Given the description of an element on the screen output the (x, y) to click on. 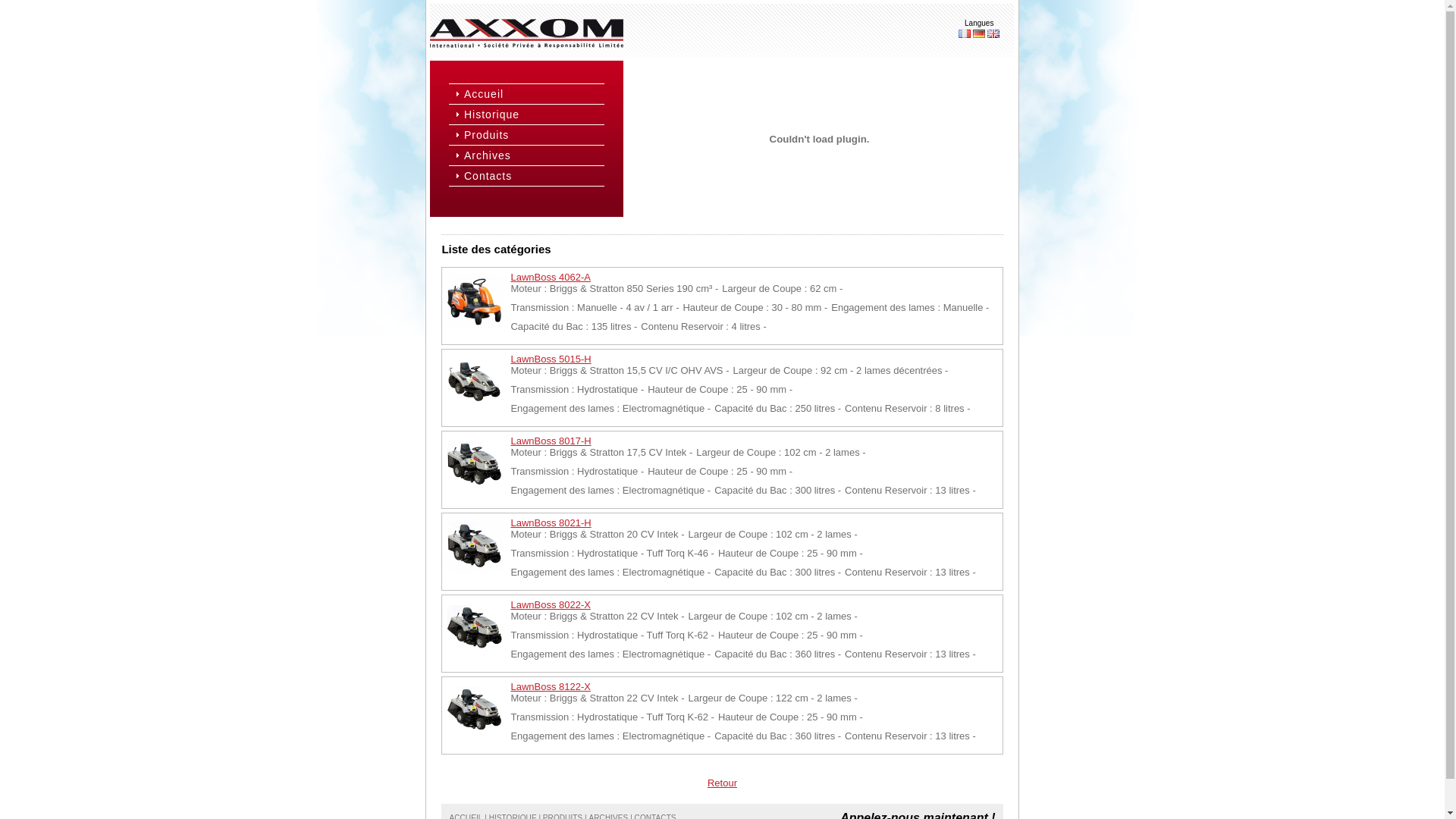
Produits Element type: text (532, 134)
LawnBoss 8017-H Element type: text (550, 440)
Contacts Element type: text (532, 175)
Axxom Element type: hover (526, 33)
Retour Element type: text (722, 782)
LawnBoss 8021-H Element type: text (550, 522)
EN Element type: hover (993, 33)
Accueil Element type: text (532, 93)
LawnBoss 8122-X Element type: text (550, 686)
FR Element type: hover (964, 33)
DE Element type: hover (978, 33)
LawnBoss 5015-H Element type: text (550, 358)
LawnBoss 8022-X Element type: text (550, 604)
Archives Element type: text (532, 155)
LawnBoss 4062-A Element type: text (550, 276)
Historique Element type: text (532, 114)
